Given the description of an element on the screen output the (x, y) to click on. 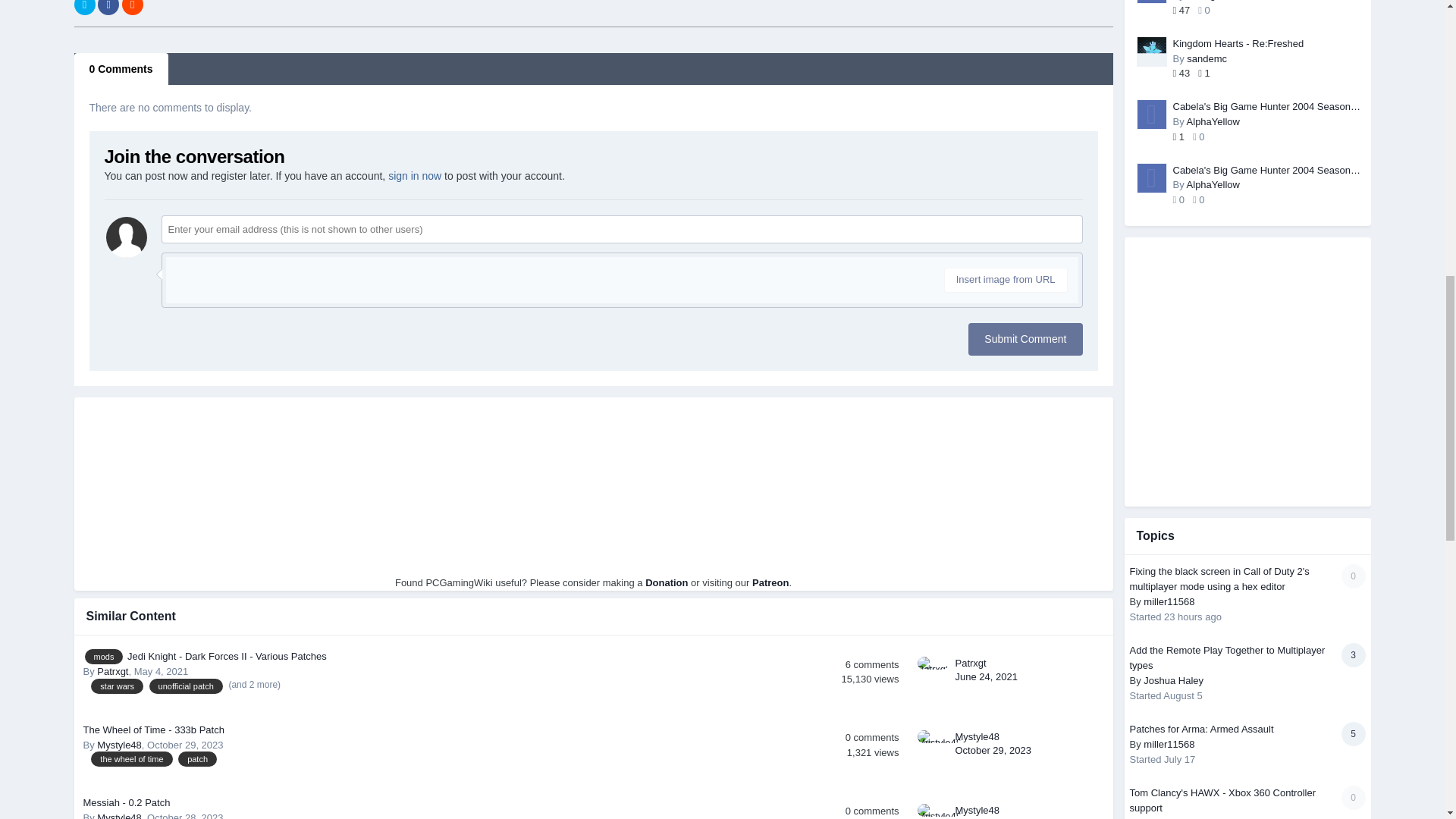
Share on Twitter (85, 7)
0 Comments (121, 69)
Share on Facebook (108, 7)
Share on Reddit (132, 7)
